Given the description of an element on the screen output the (x, y) to click on. 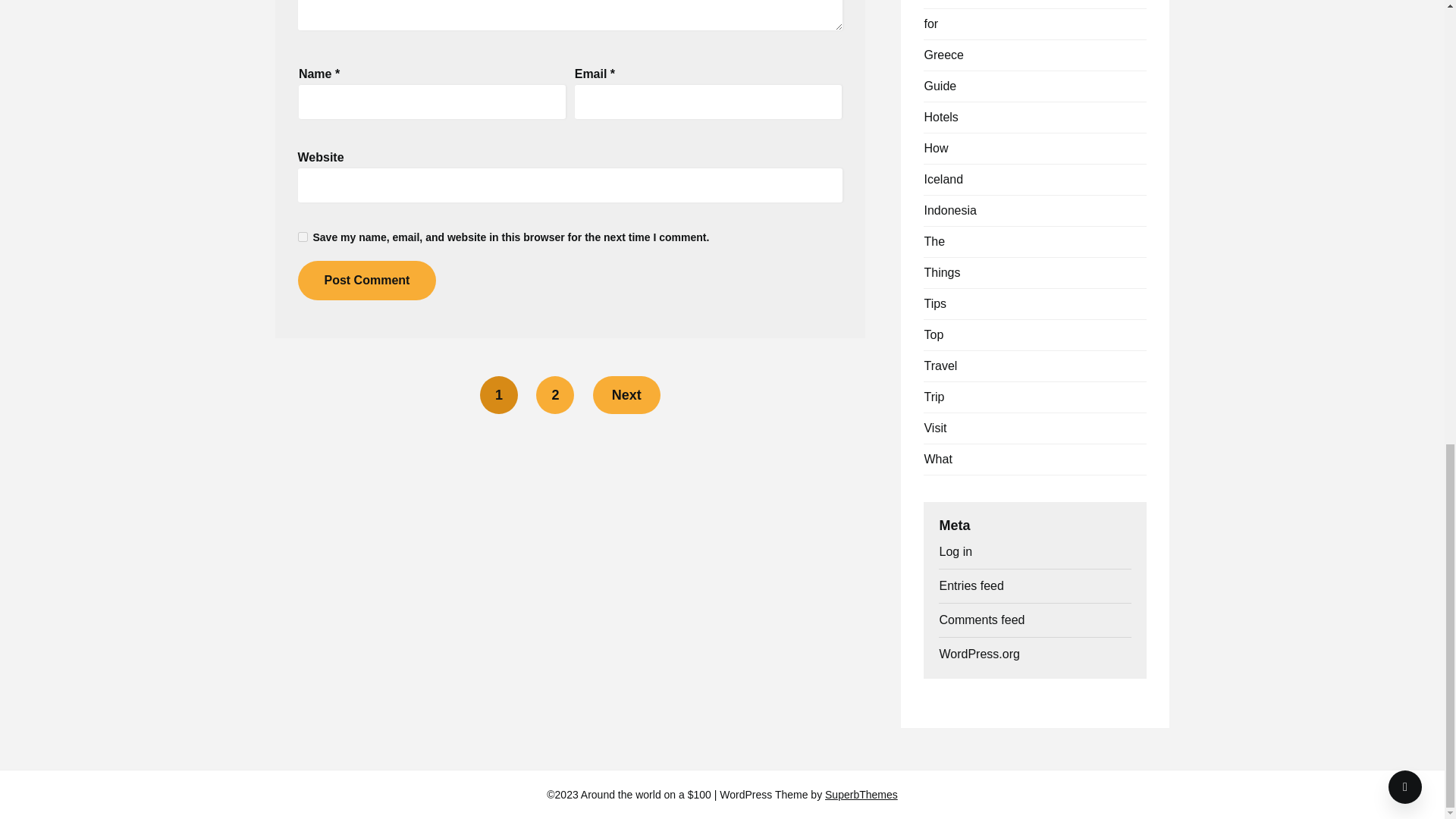
Post Comment (366, 280)
Hotels (940, 116)
yes (302, 236)
How (935, 147)
Guide (939, 85)
Post Comment (366, 280)
for (930, 23)
The (933, 241)
2 (554, 394)
Indonesia (949, 210)
Iceland (942, 178)
Greece (942, 54)
Next (626, 394)
